Given the description of an element on the screen output the (x, y) to click on. 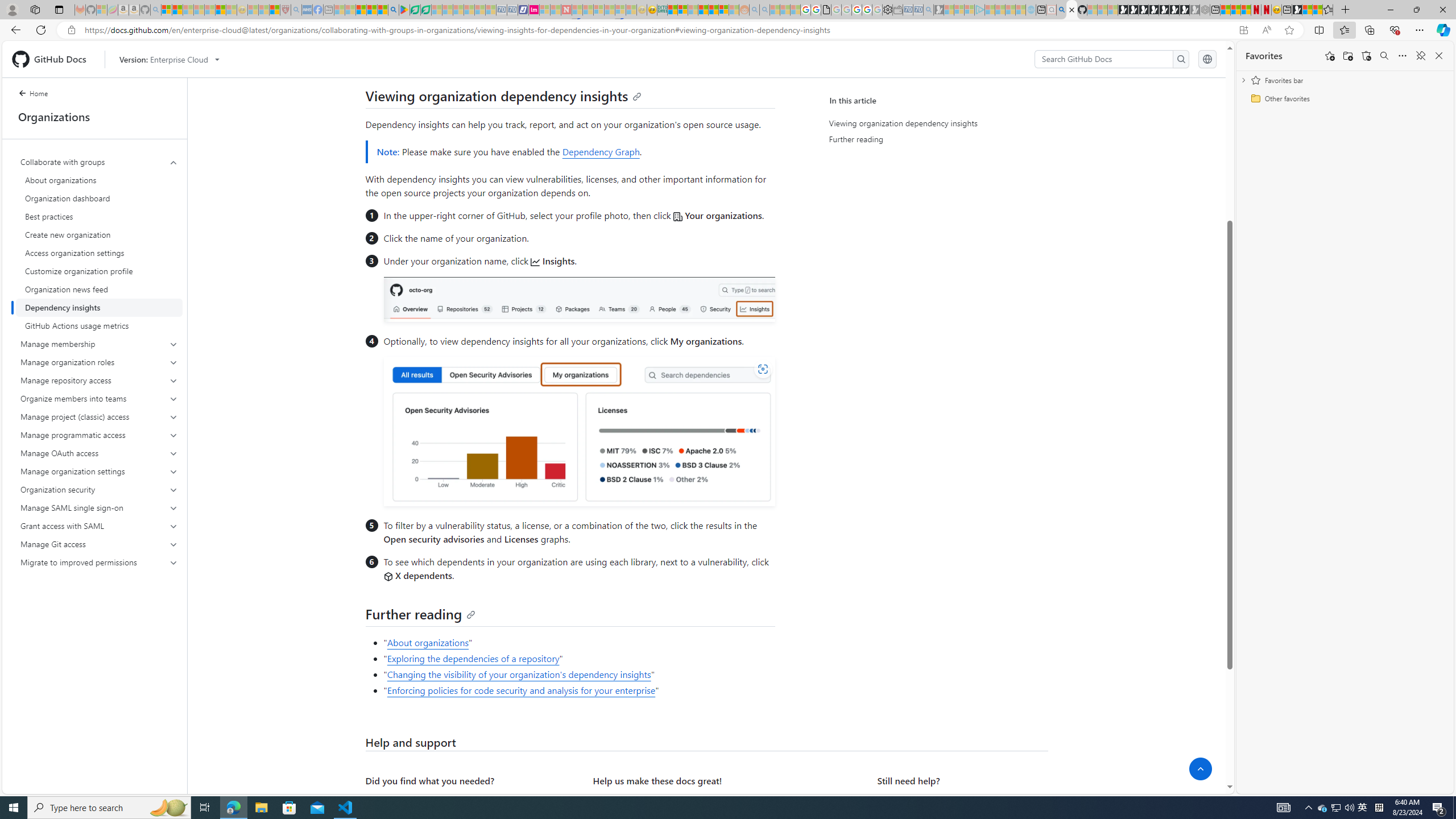
Manage repository access (99, 380)
3Under your organization name, click Insights. (578, 289)
Manage SAML single sign-on (99, 507)
Add folder (1347, 55)
Access organization settings (99, 253)
Grant access with SAML (99, 525)
Manage organization settings (99, 471)
Microsoft Word - consumer-privacy address update 2.2021 (426, 9)
